Given the description of an element on the screen output the (x, y) to click on. 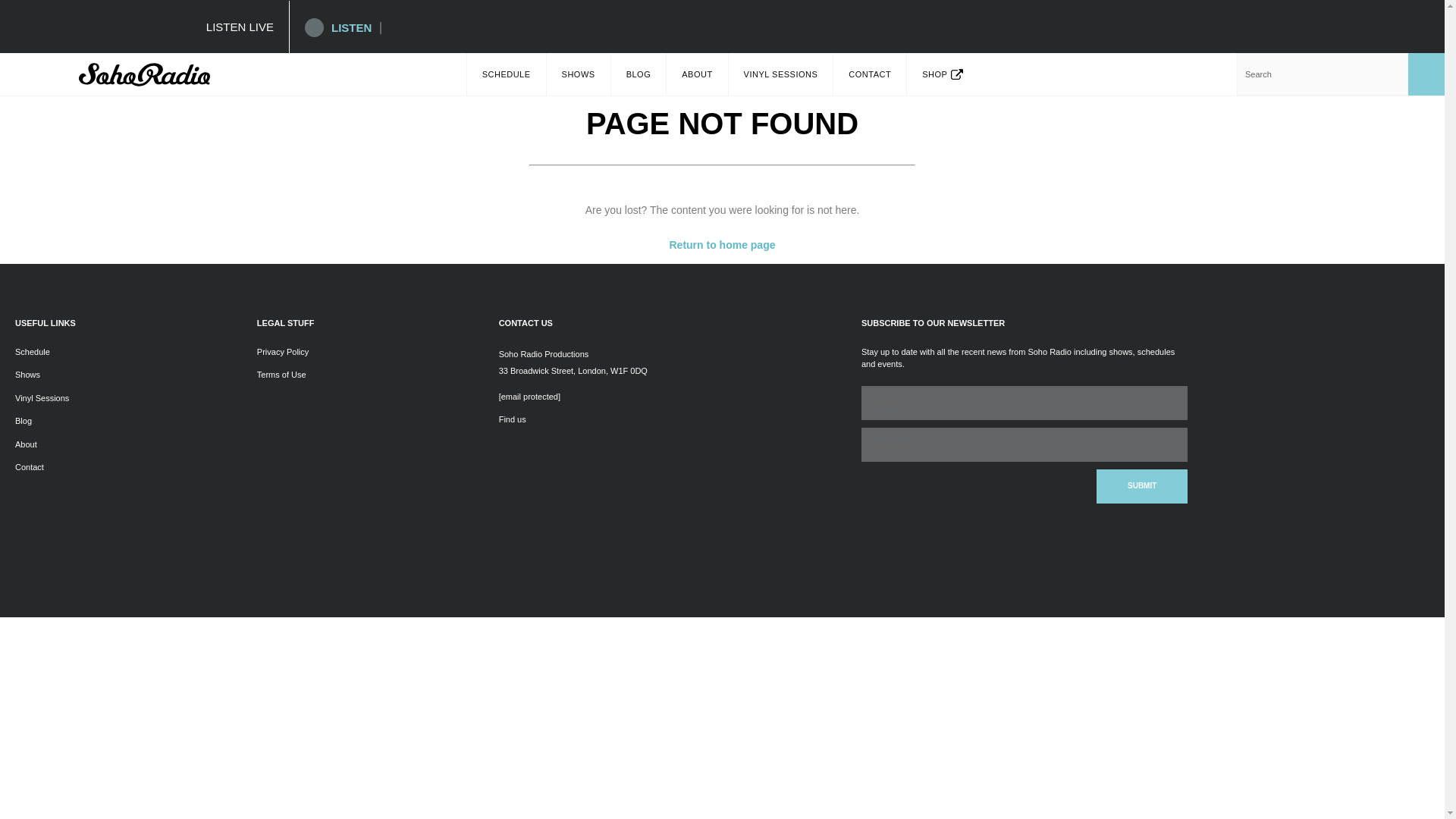
Vinyl Sessions (41, 397)
SHOP (942, 74)
SHOWS (578, 74)
Terms of Use (281, 374)
ABOUT (696, 74)
CONTACT (868, 74)
VINYL SESSIONS (780, 74)
Privacy Policy (282, 351)
BLOG (638, 74)
SCHEDULE (506, 74)
